Given the description of an element on the screen output the (x, y) to click on. 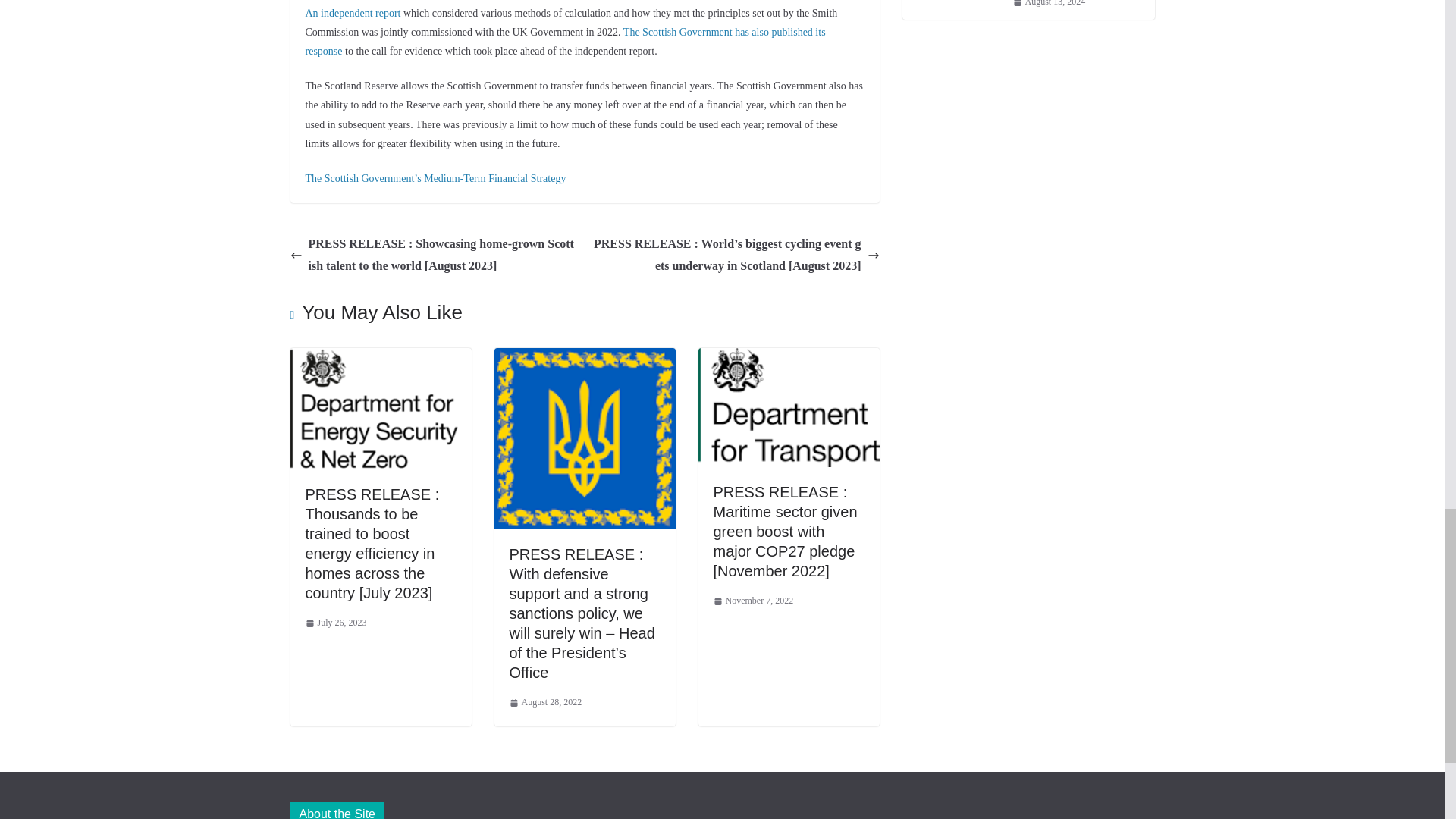
6:27 pm (335, 623)
An independent report (352, 12)
The Scottish Government has also published its response (564, 41)
